Given the description of an element on the screen output the (x, y) to click on. 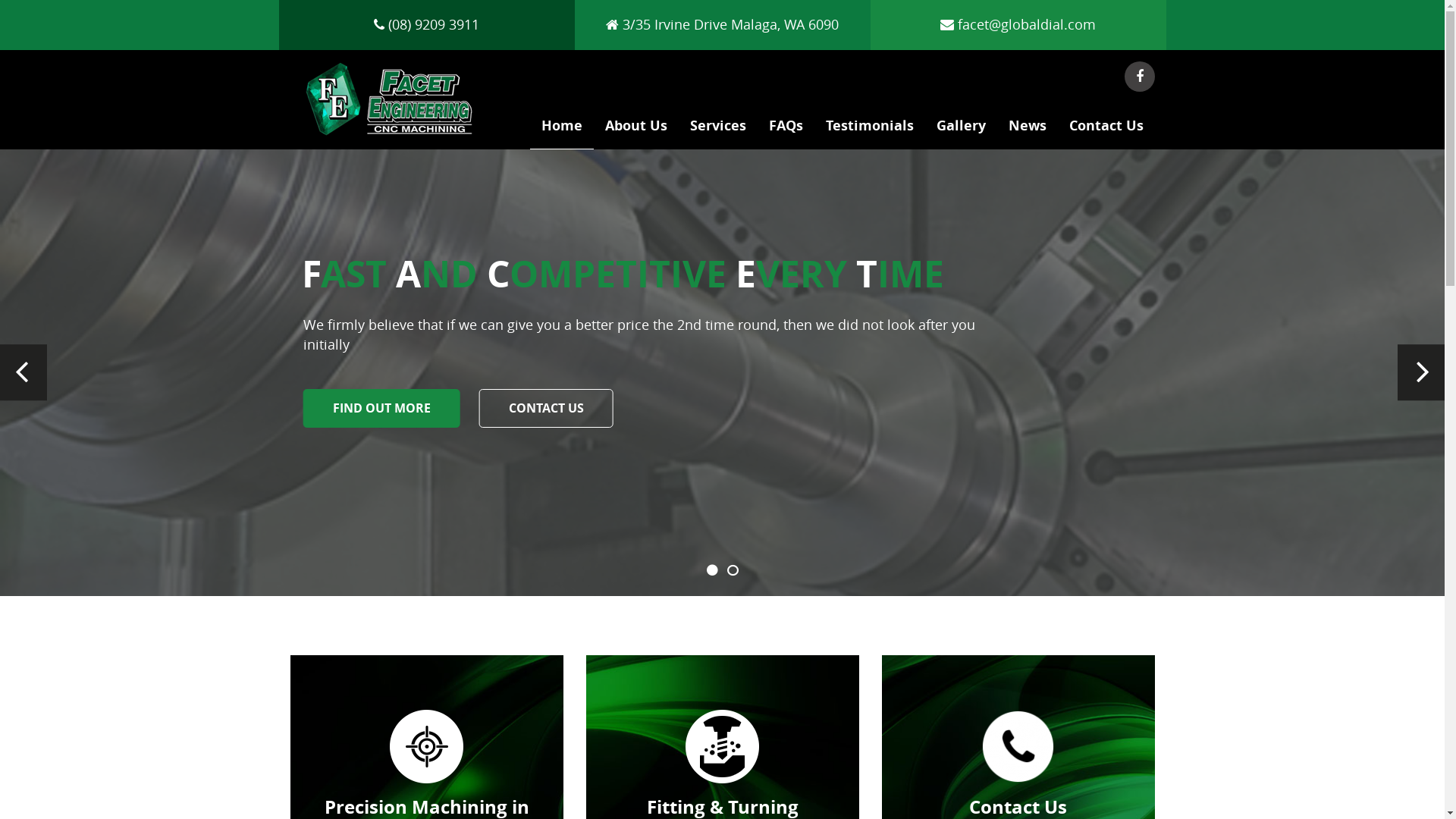
Testimonials Element type: text (869, 129)
facet@globaldial.com Element type: text (1017, 24)
About Us Element type: text (635, 129)
quality service facet engineering Element type: hover (722, 372)
Contact Us Element type: text (1105, 129)
CONTACT US Element type: text (546, 408)
News Element type: text (1026, 129)
FAQs Element type: text (784, 129)
1 Element type: text (712, 570)
3/35 Irvine Drive Malaga, WA 6090 Element type: text (721, 24)
FIND OUT MORE Element type: text (381, 408)
Gallery Element type: text (961, 129)
Services Element type: text (716, 129)
Facet Engineering Element type: hover (389, 103)
2 Element type: text (731, 570)
Home Element type: text (561, 129)
(08) 9209 3911 Element type: text (426, 24)
